Given the description of an element on the screen output the (x, y) to click on. 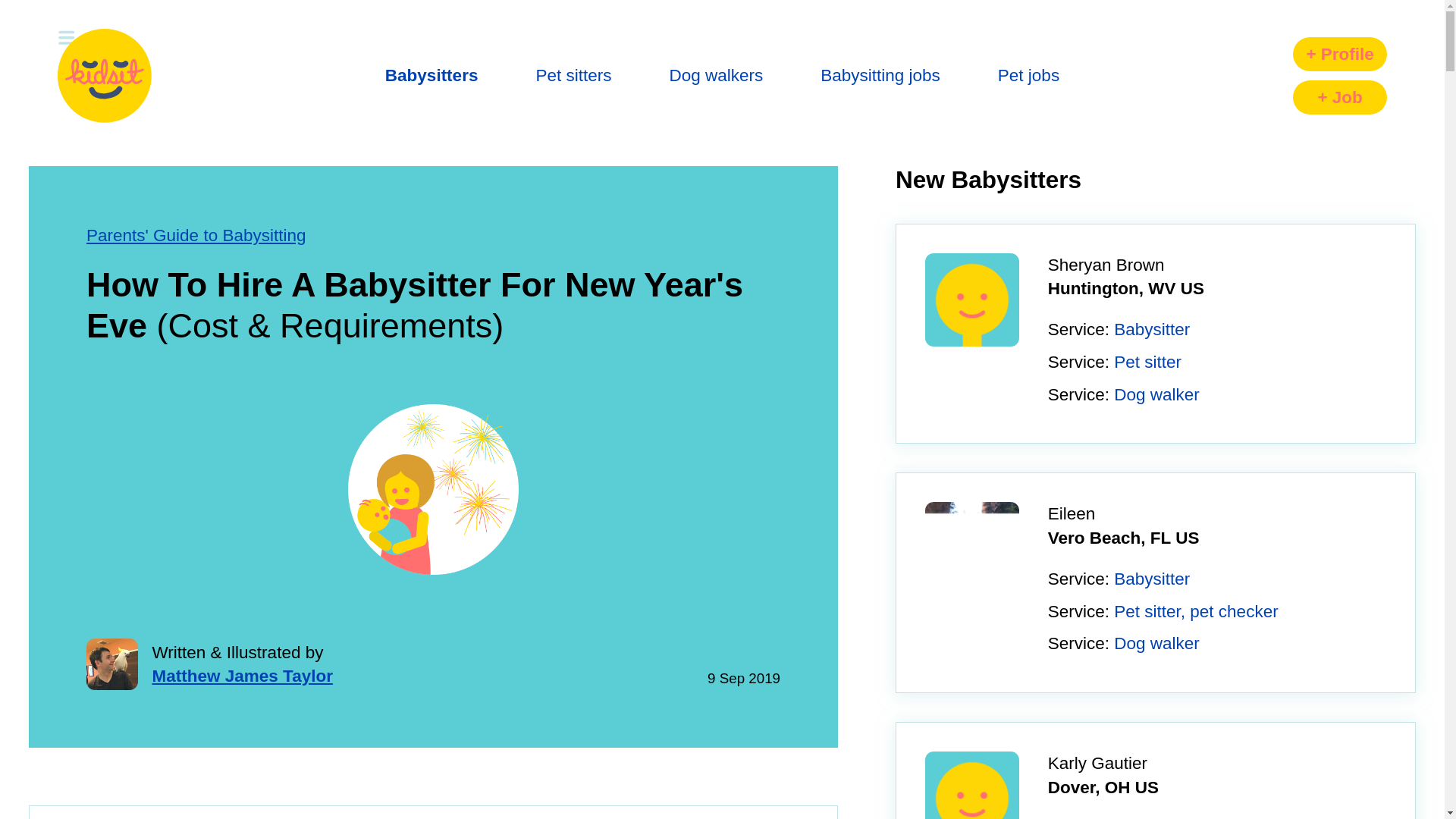
Babysitting jobs (880, 75)
Babysitters (432, 75)
Matthew James Taylor (241, 675)
Parents' Guide to Babysitting (195, 235)
Pet jobs (1028, 75)
Main menu (104, 75)
Dog walkers (715, 75)
Pet sitters (573, 75)
